Given the description of an element on the screen output the (x, y) to click on. 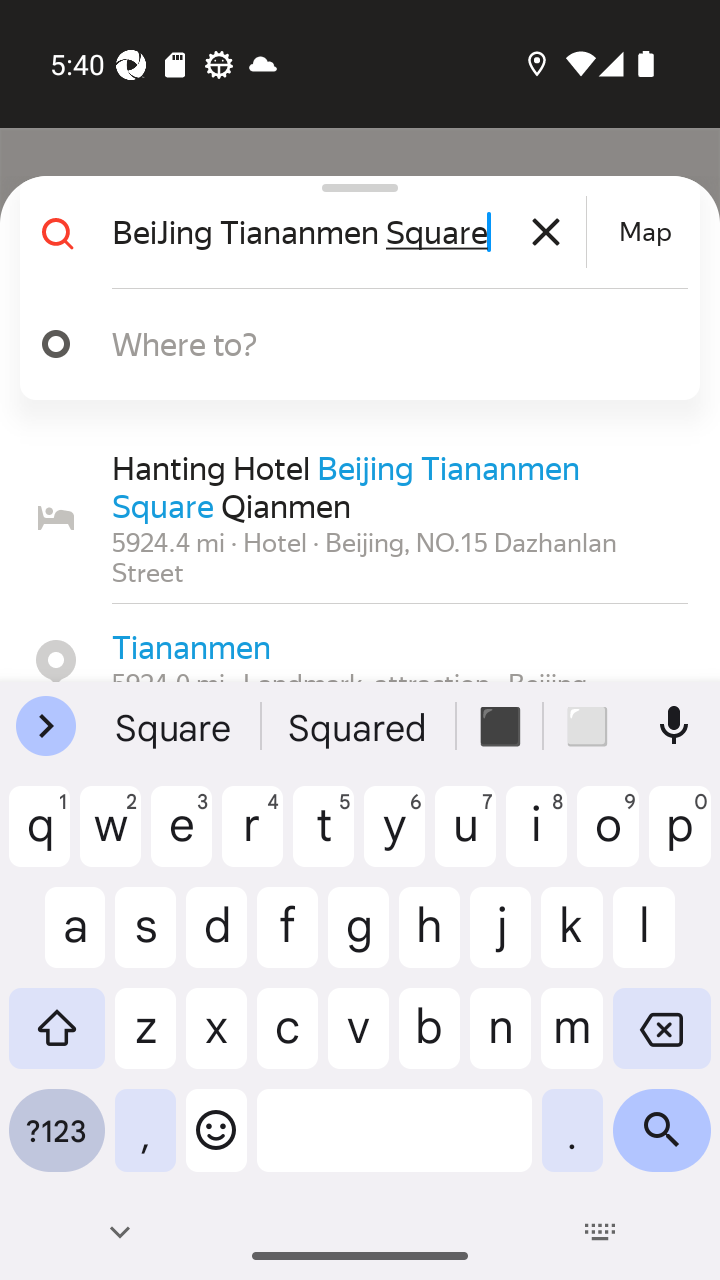
BeiJing Tiananmen Square Clear text box Map Map (352, 232)
Map (645, 232)
Clear text box (546, 231)
BeiJing Tiananmen Square (346, 232)
Where to? (352, 343)
Where to? (373, 343)
